Given the description of an element on the screen output the (x, y) to click on. 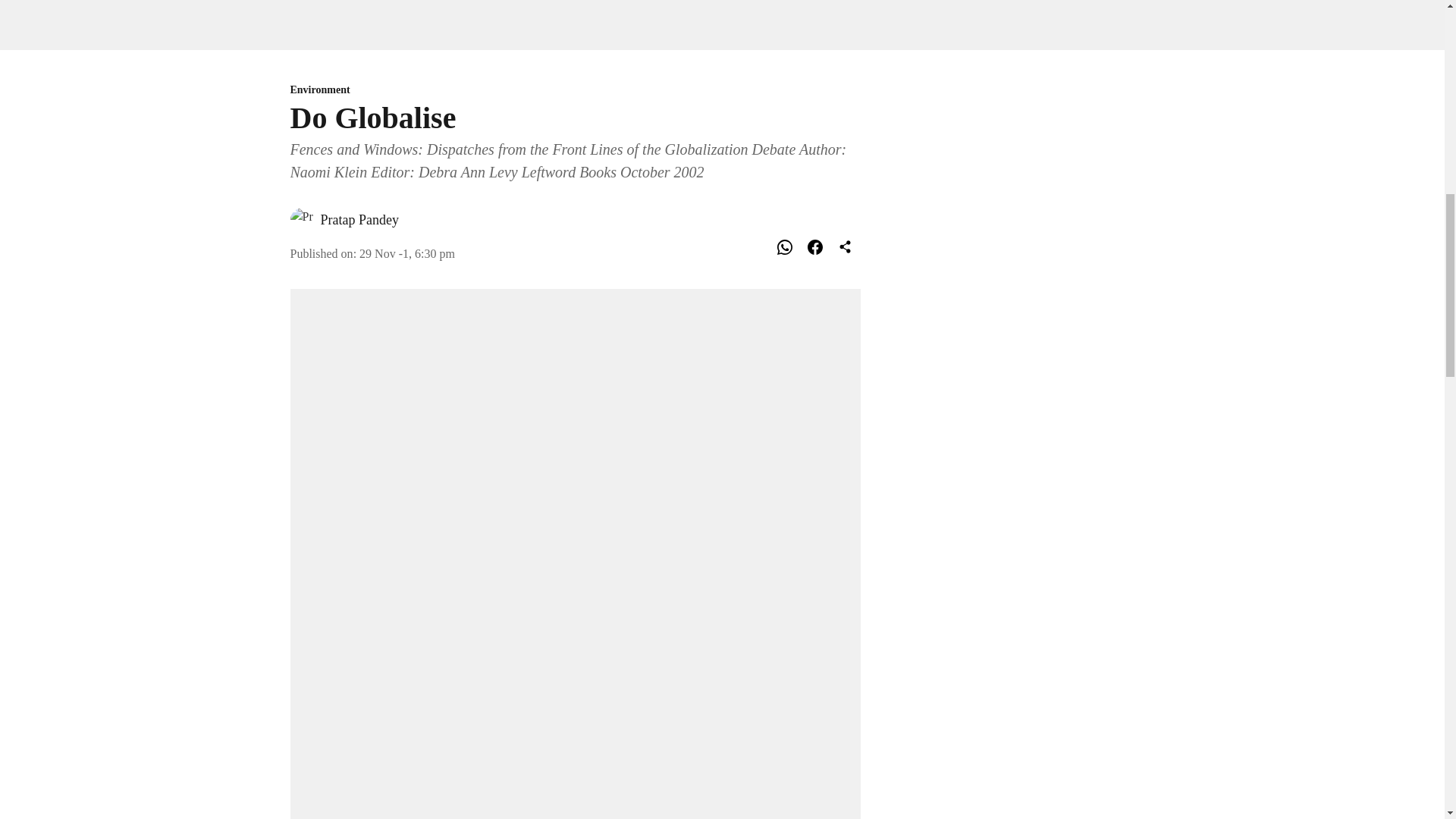
Environment (574, 90)
-000001-11-29 18 (406, 253)
Pratap Pandey (358, 219)
